Given the description of an element on the screen output the (x, y) to click on. 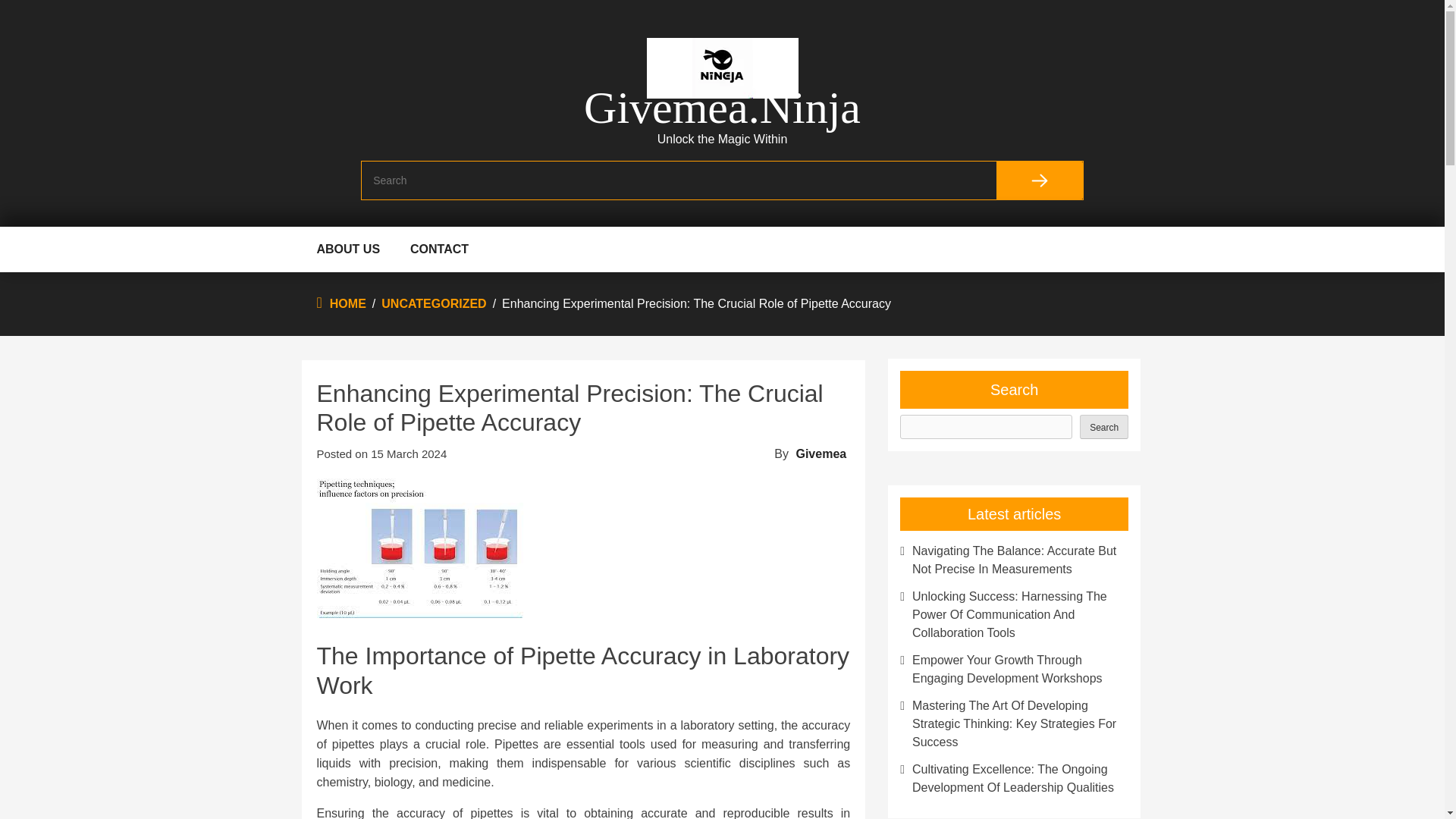
CONTACT (439, 249)
Search (1039, 180)
Search (1104, 426)
Empower Your Growth Through Engaging Development Workshops (1013, 669)
Givemea (819, 453)
ABOUT US (348, 249)
HOME (348, 303)
15 March 2024 (408, 453)
UNCATEGORIZED (433, 303)
